Given the description of an element on the screen output the (x, y) to click on. 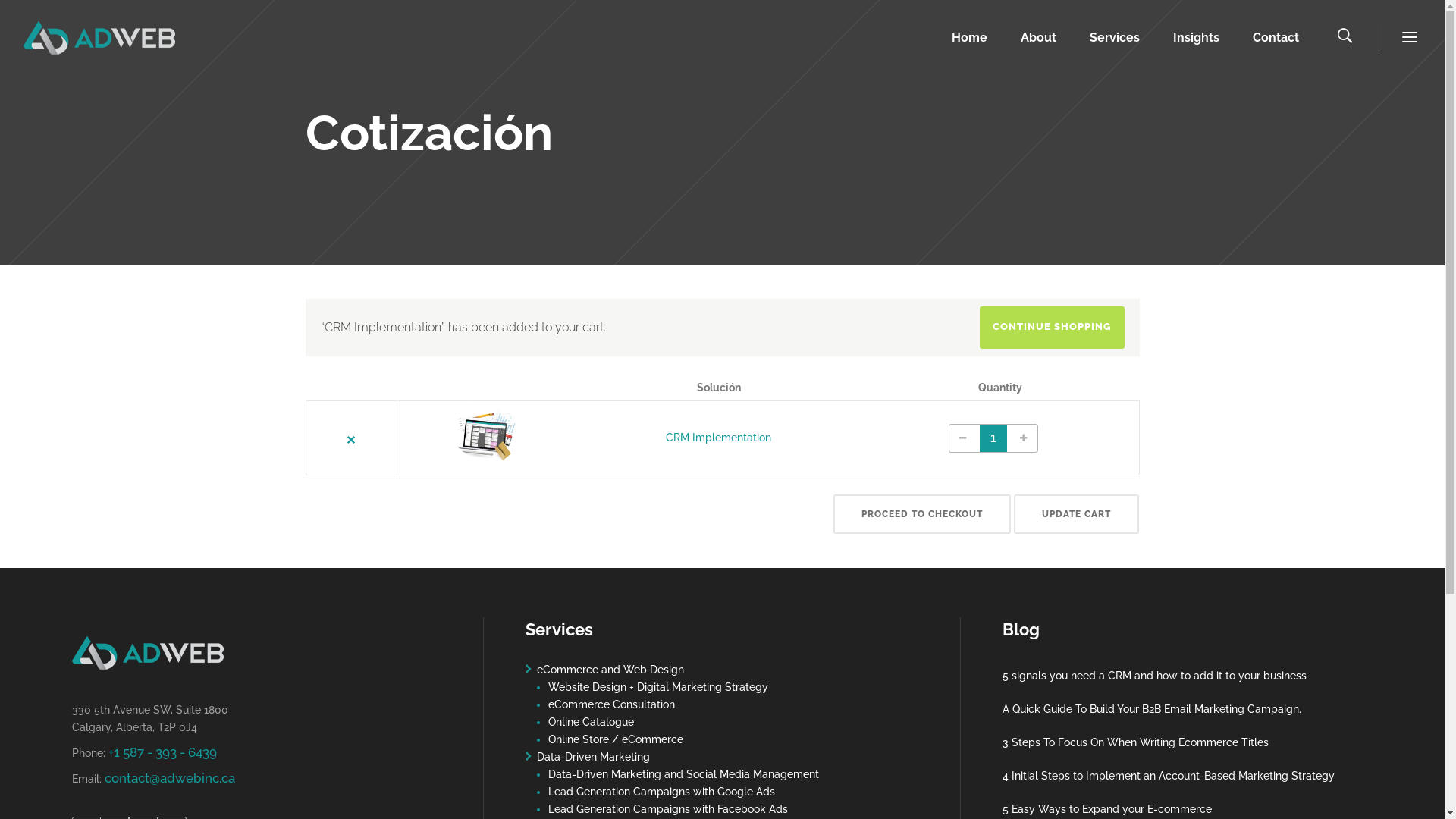
PROCEED TO CHECKOUT Element type: text (921, 513)
Lead Generation Campaigns with Google Ads Element type: text (661, 791)
Home Element type: text (969, 37)
3 Steps To Focus On When Writing Ecommerce Titles Element type: text (1181, 742)
Qty Element type: hover (993, 437)
5 Easy Ways to Expand your E-commerce Element type: text (1181, 809)
Update Cart Element type: text (1076, 513)
Lead Generation Campaigns with Facebook Ads Element type: text (667, 809)
About Element type: text (1038, 37)
5 signals you need a CRM and how to add it to your business Element type: text (1181, 675)
Services Element type: text (1114, 37)
A Quick Guide To Build Your B2B Email Marketing Campaign. Element type: text (1181, 709)
Data-Driven Marketing Element type: text (592, 756)
Data-Driven Marketing and Social Media Management Element type: text (683, 774)
Insights Element type: text (1195, 37)
Online Catalogue Element type: text (590, 721)
eCommerce and Web Design Element type: text (610, 669)
Website Design + Digital Marketing Strategy Element type: text (658, 686)
eCommerce Consultation Element type: text (611, 704)
contact@adwebinc.ca Element type: text (169, 777)
Online Store / eCommerce Element type: text (615, 739)
+1 587 - 393 - 6439 Element type: text (162, 751)
CRM Implementation Element type: text (718, 437)
Contact Element type: text (1275, 37)
CONTINUE SHOPPING Element type: text (1051, 327)
